Given the description of an element on the screen output the (x, y) to click on. 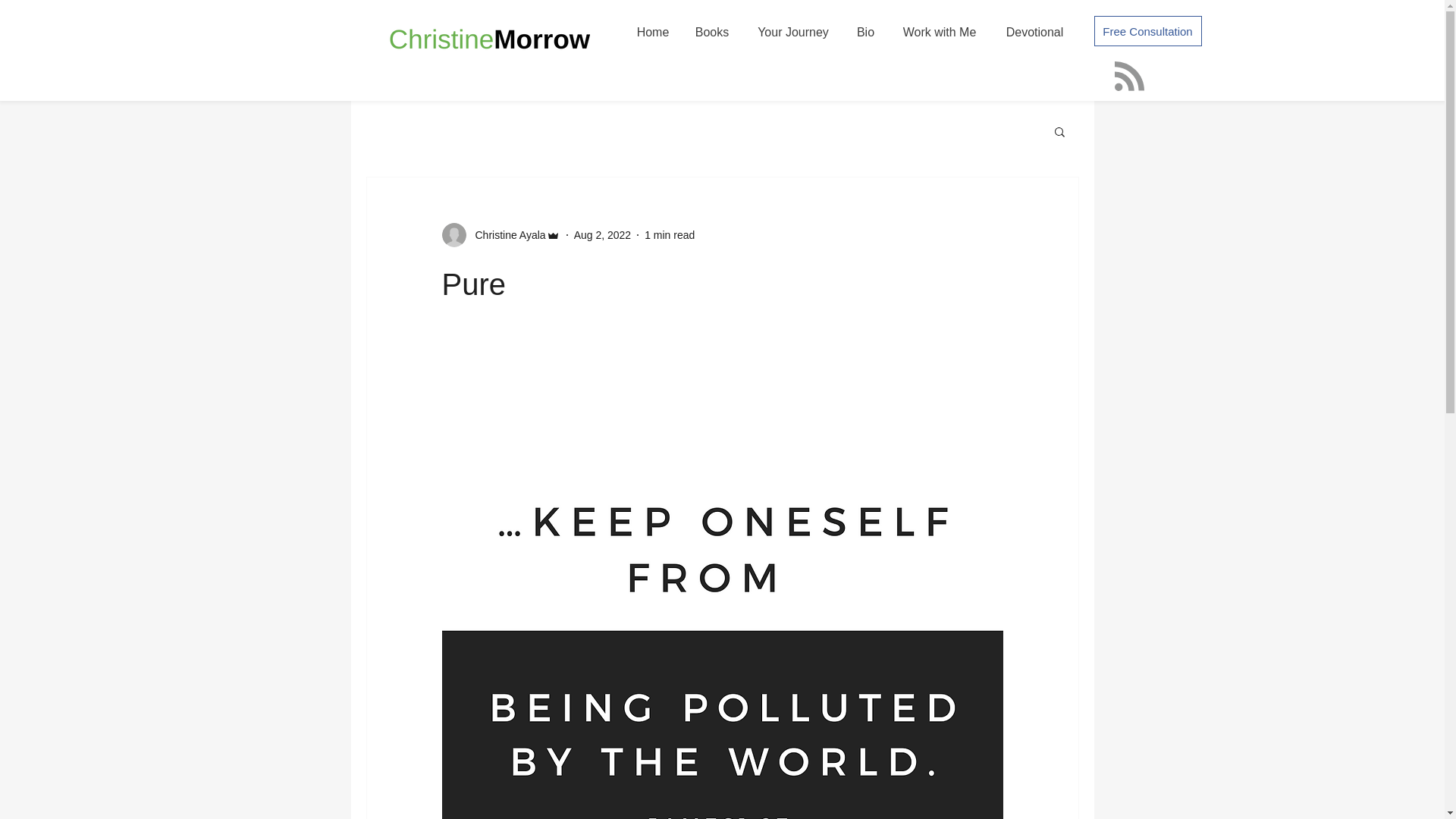
Devotional (1034, 31)
Your Journey (792, 31)
Books (712, 31)
Bio (865, 31)
Home (652, 31)
Work with Me (939, 31)
Christine Ayala (504, 235)
Free Consultation (1147, 30)
Aug 2, 2022 (602, 234)
1 min read (669, 234)
